Given the description of an element on the screen output the (x, y) to click on. 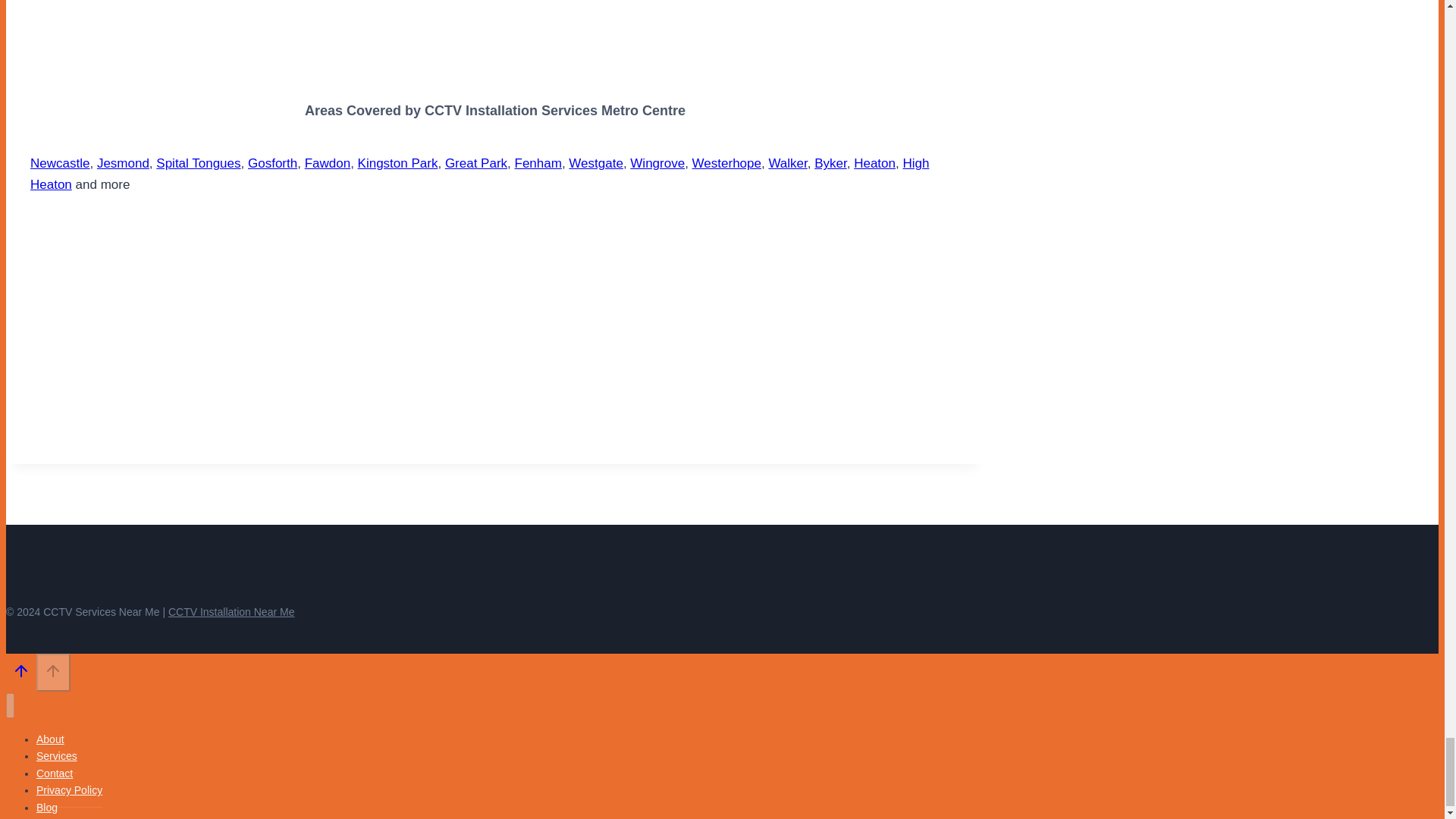
Scroll to top (52, 670)
Fawdon (327, 163)
Scroll to top (20, 674)
Fenham (538, 163)
Scroll to top (20, 670)
Spital Tongues (197, 163)
Gosforth (272, 163)
Great Park (475, 163)
Westgate (596, 163)
Wingrove (657, 163)
Westerhope (727, 163)
Kingston Park (398, 163)
Newcastle (59, 163)
Jesmond (123, 163)
Scroll to top (52, 672)
